Given the description of an element on the screen output the (x, y) to click on. 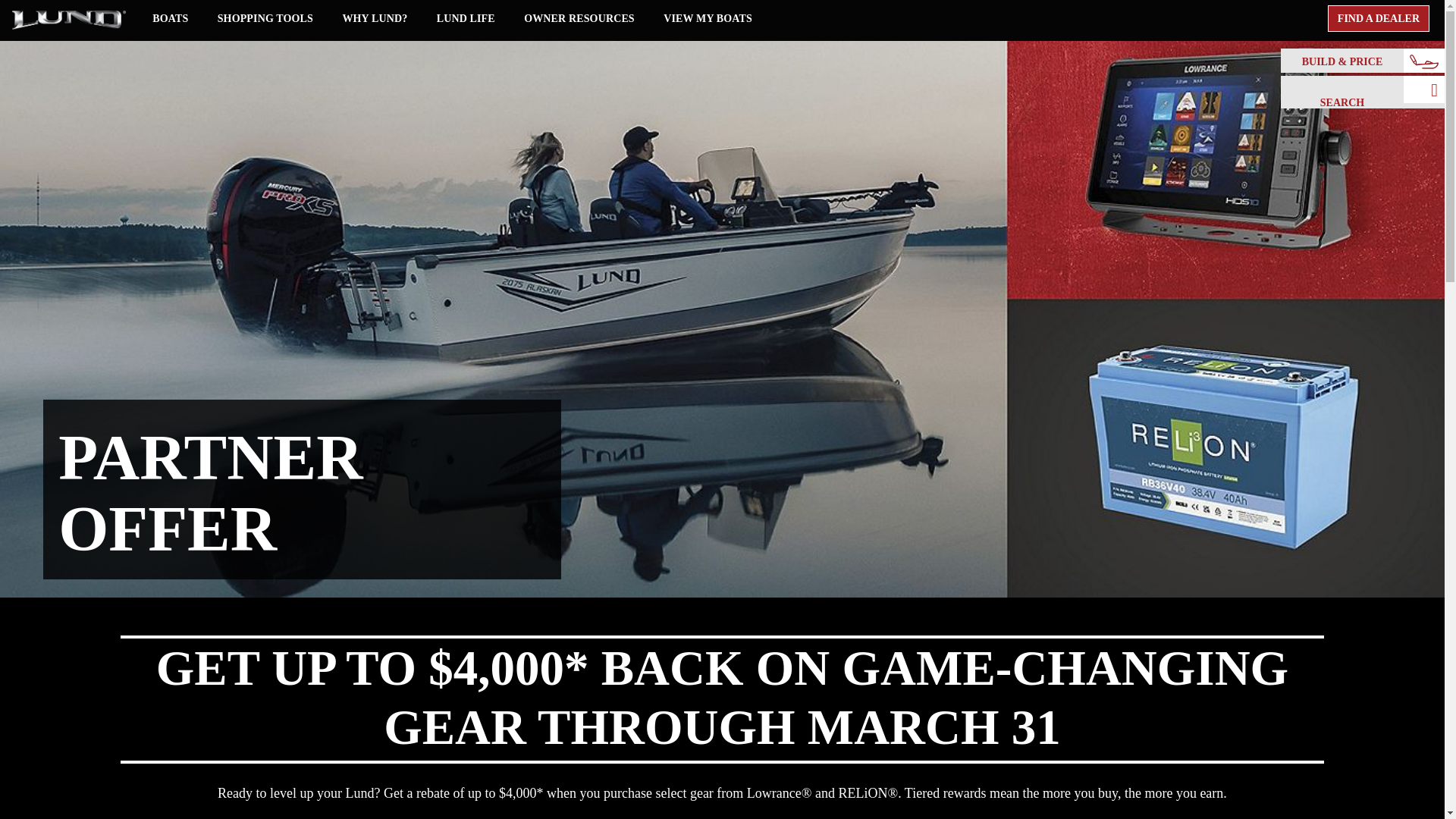
Lund Boats (68, 19)
Skip to main content (57, 13)
Skip to main content (57, 13)
BOATS (169, 18)
